Given the description of an element on the screen output the (x, y) to click on. 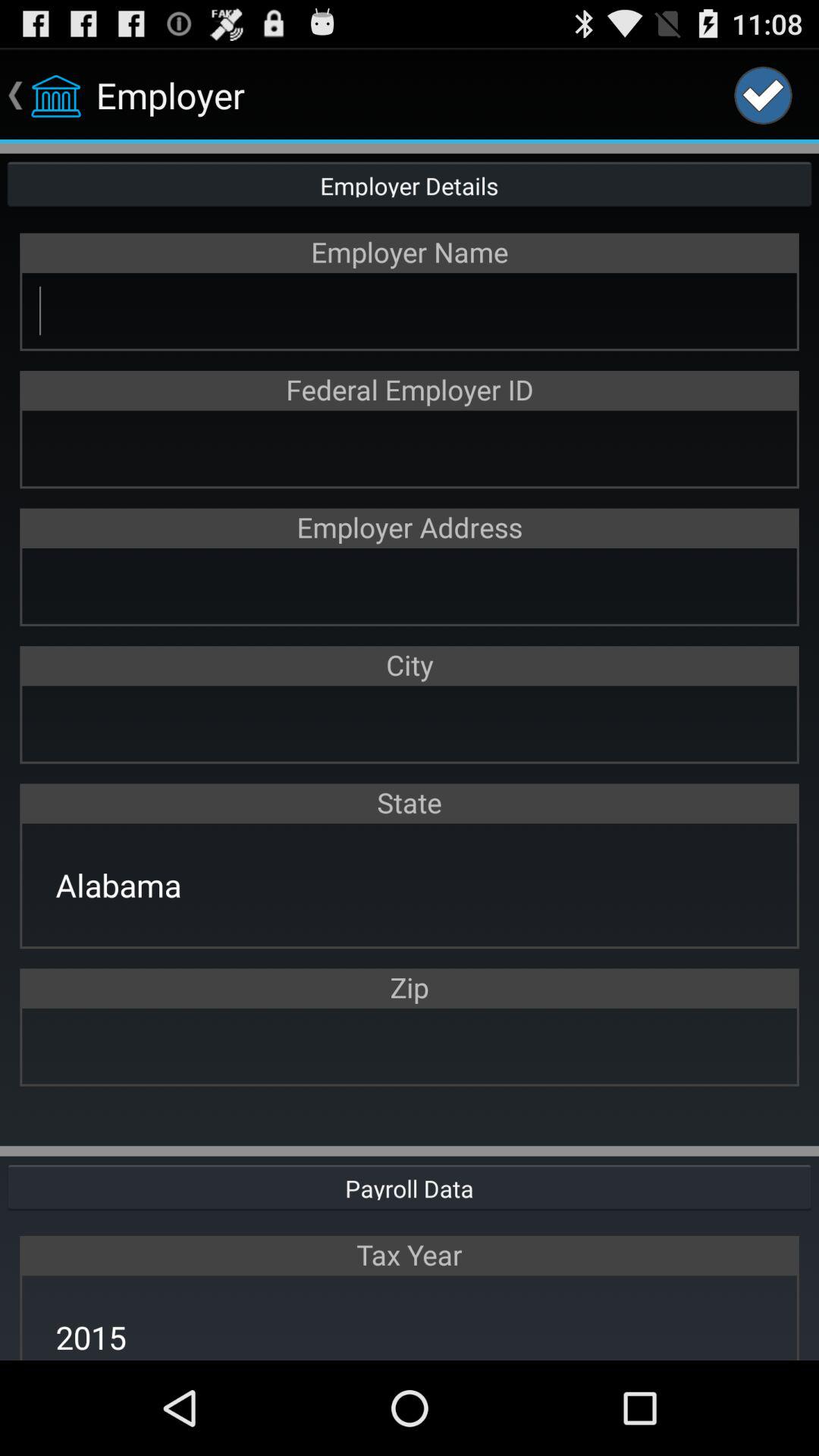
select the icon at the top right corner (763, 95)
